Given the description of an element on the screen output the (x, y) to click on. 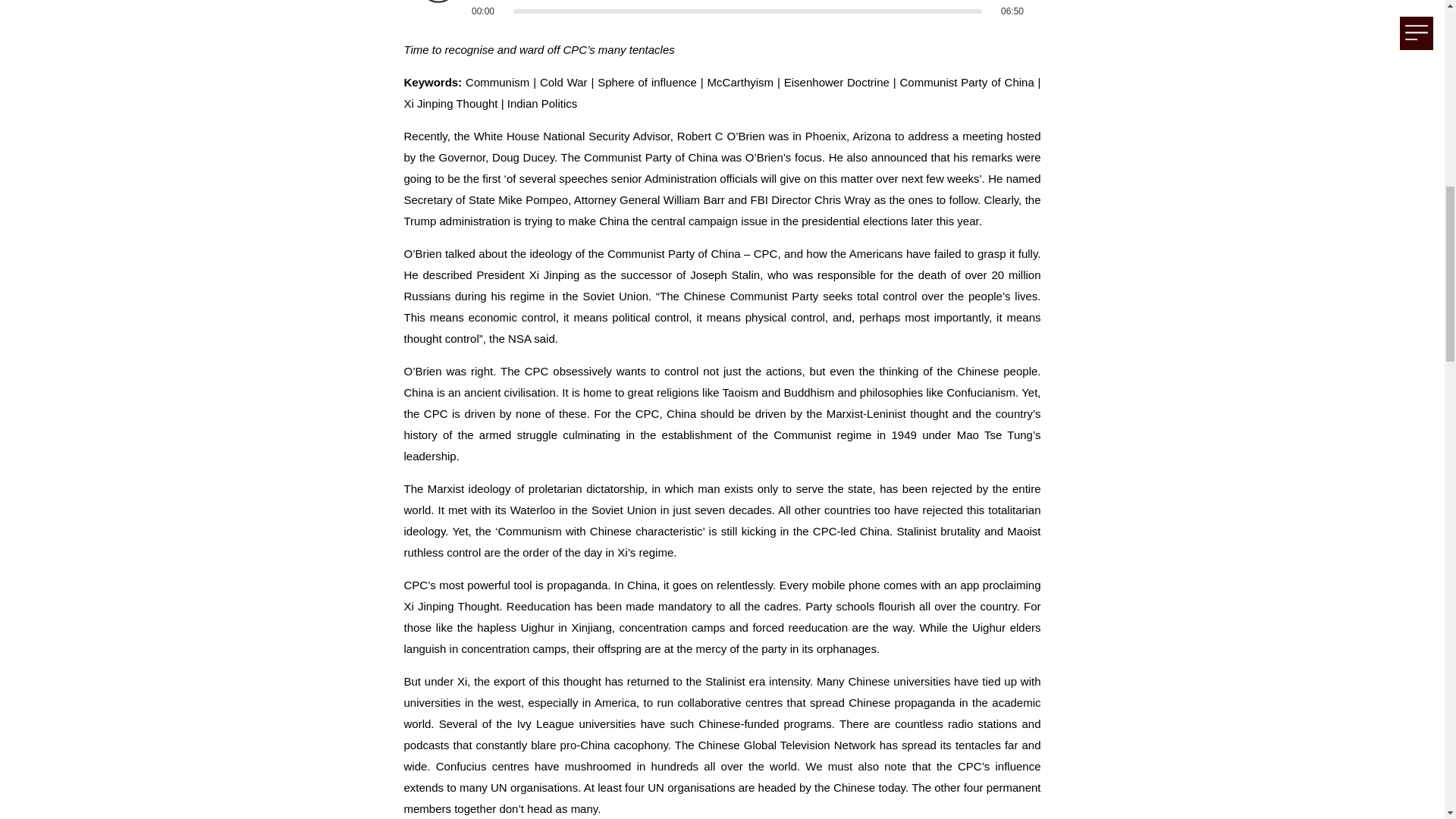
Trinity Audio Player (721, 11)
